Given the description of an element on the screen output the (x, y) to click on. 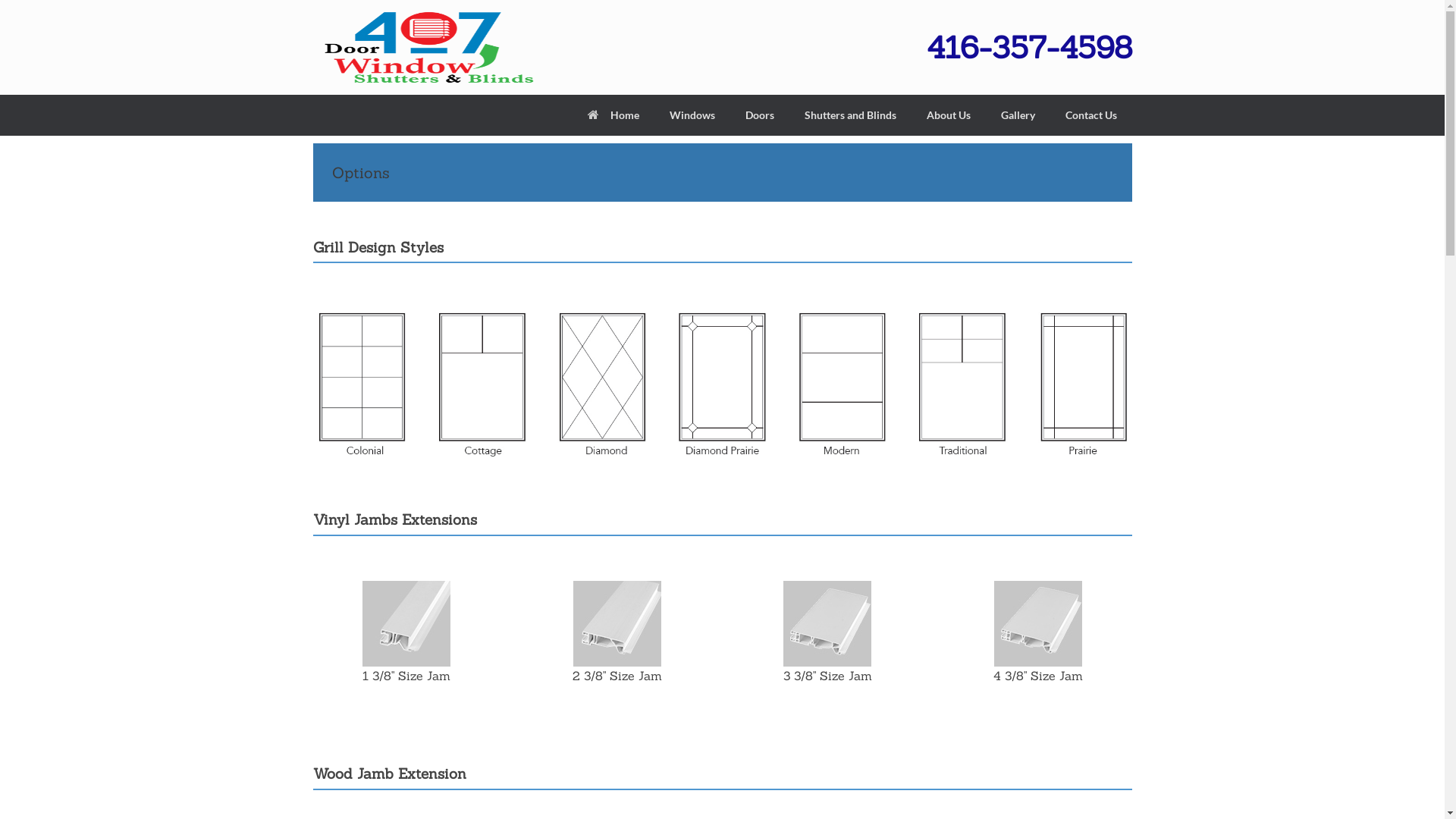
407 Windows and Shutters Element type: hover (425, 47)
4 3/8" Size Jam Element type: hover (1038, 623)
Windows Element type: text (691, 114)
2 3/8" Size Jam Element type: hover (617, 623)
1 3/8" Size Jam Element type: hover (406, 623)
Contact Us Element type: text (1090, 114)
colonial Element type: hover (361, 383)
Gallery Element type: text (1017, 114)
Home Element type: text (612, 114)
Shutters and Blinds Element type: text (849, 114)
Doors Element type: text (758, 114)
diamond prairie Element type: hover (722, 383)
3 3/8" Size Jam Element type: hover (827, 623)
About Us Element type: text (948, 114)
